Given the description of an element on the screen output the (x, y) to click on. 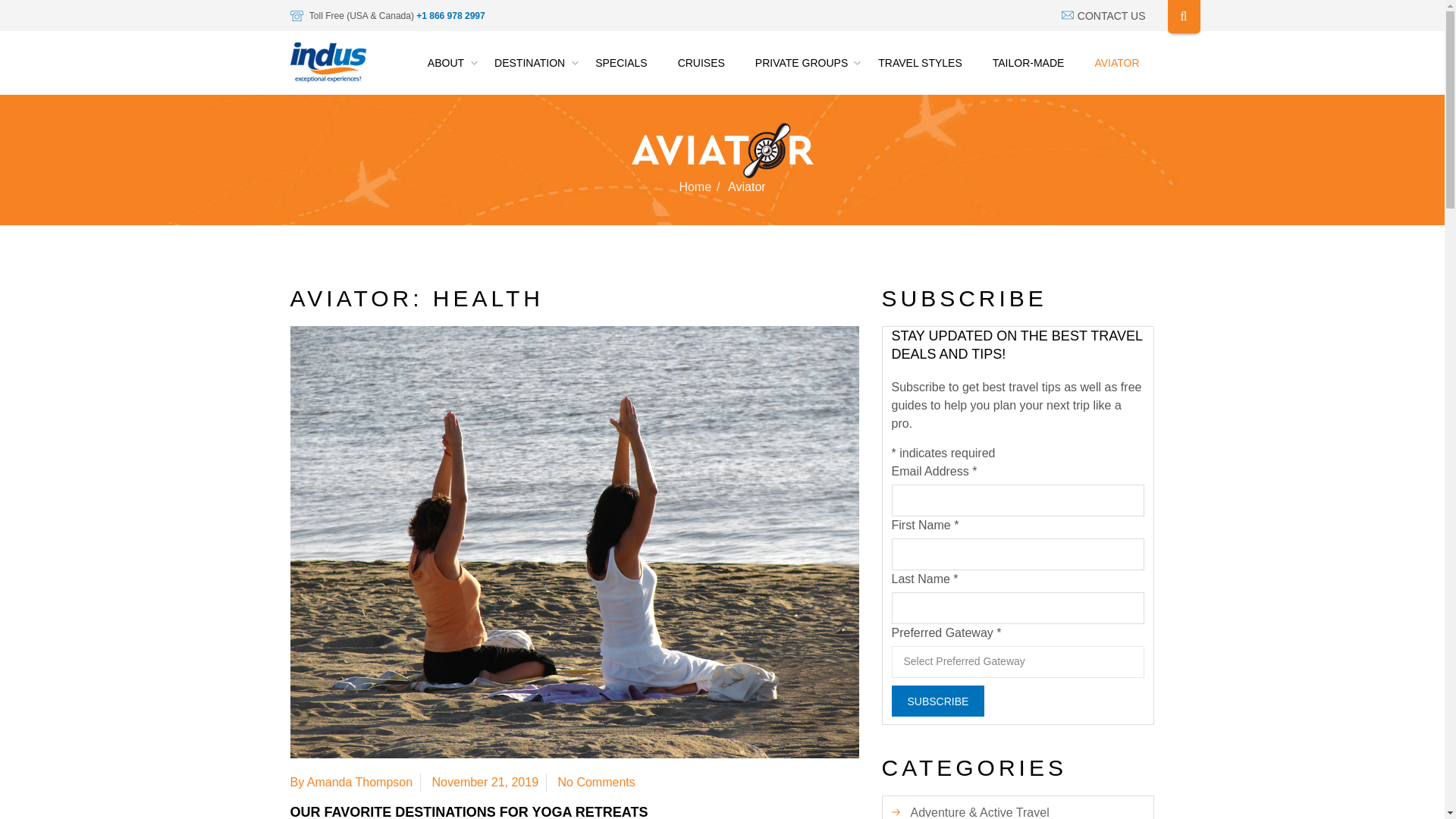
Posts by Amanda Thompson (359, 781)
DESTINATION (529, 63)
Subscribe (938, 700)
ABOUT (445, 63)
CONTACT US (1103, 15)
